Given the description of an element on the screen output the (x, y) to click on. 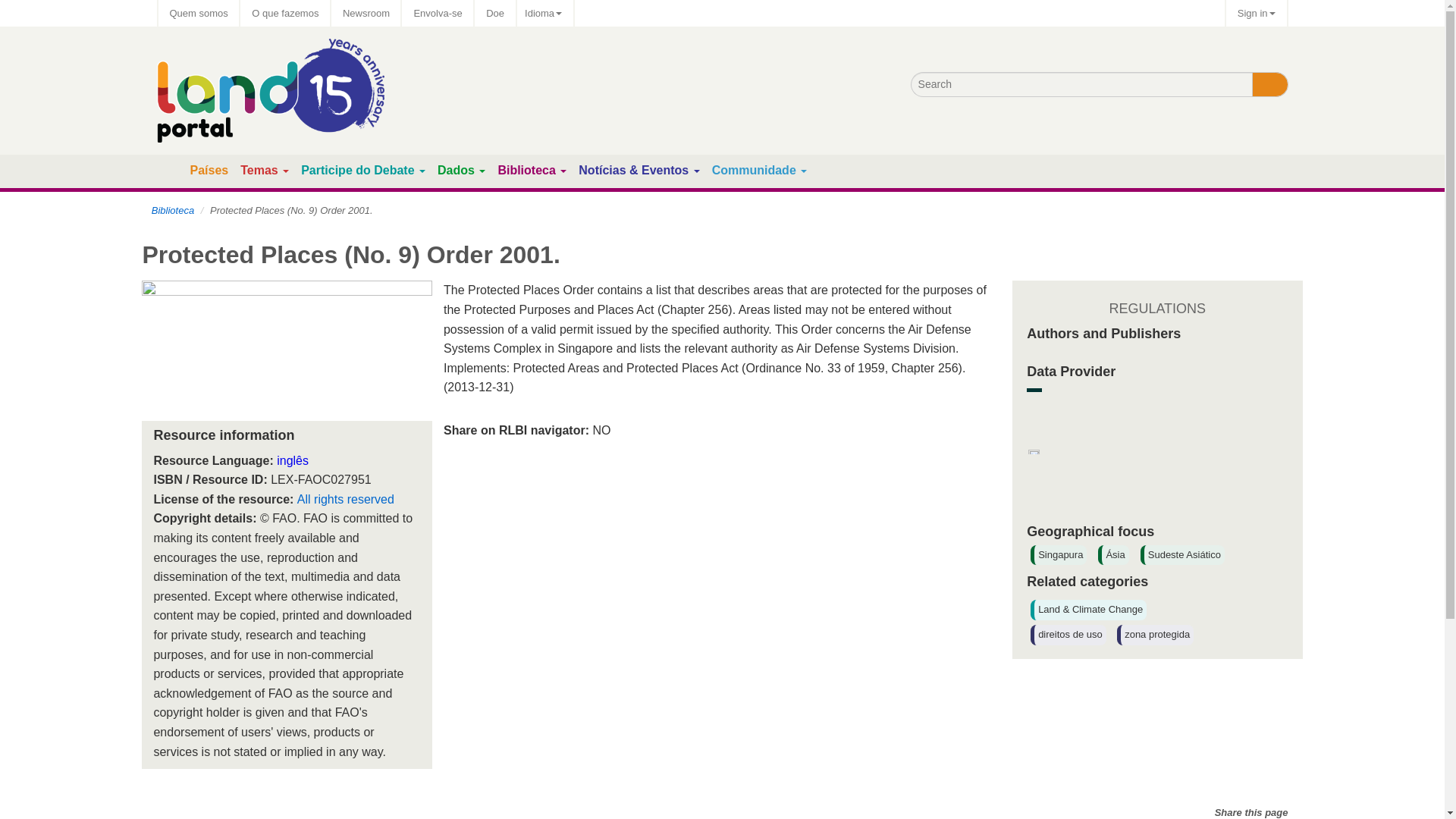
Envolva-se (437, 13)
Search (1268, 84)
Newsroom (366, 13)
Envolva-se (437, 13)
Doe (494, 13)
Participe do Debate (357, 169)
Quem somos (197, 13)
Doe (494, 13)
O que fazemos (285, 13)
Home (169, 171)
